Given the description of an element on the screen output the (x, y) to click on. 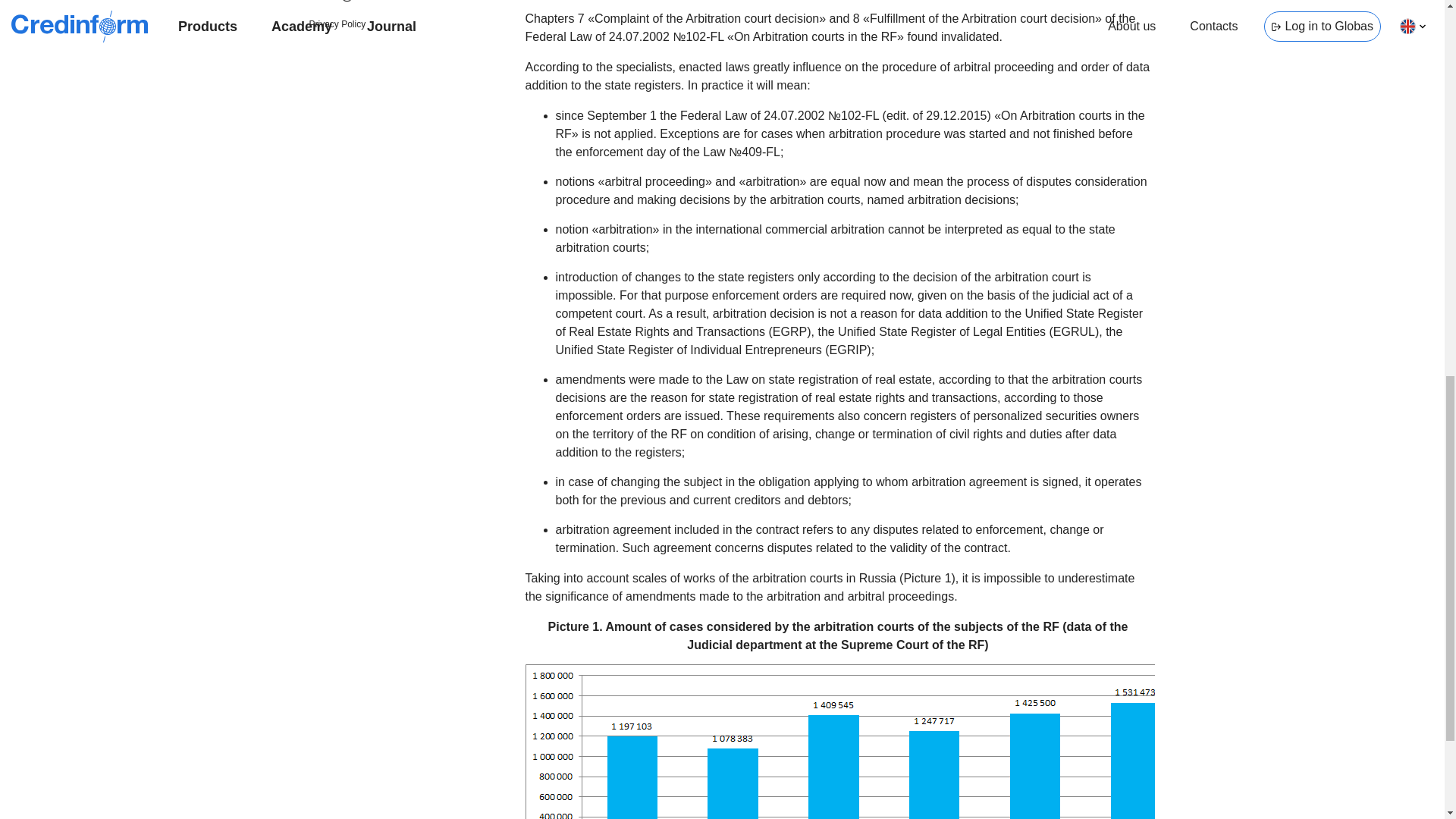
Privacy Policy (337, 23)
